Given the description of an element on the screen output the (x, y) to click on. 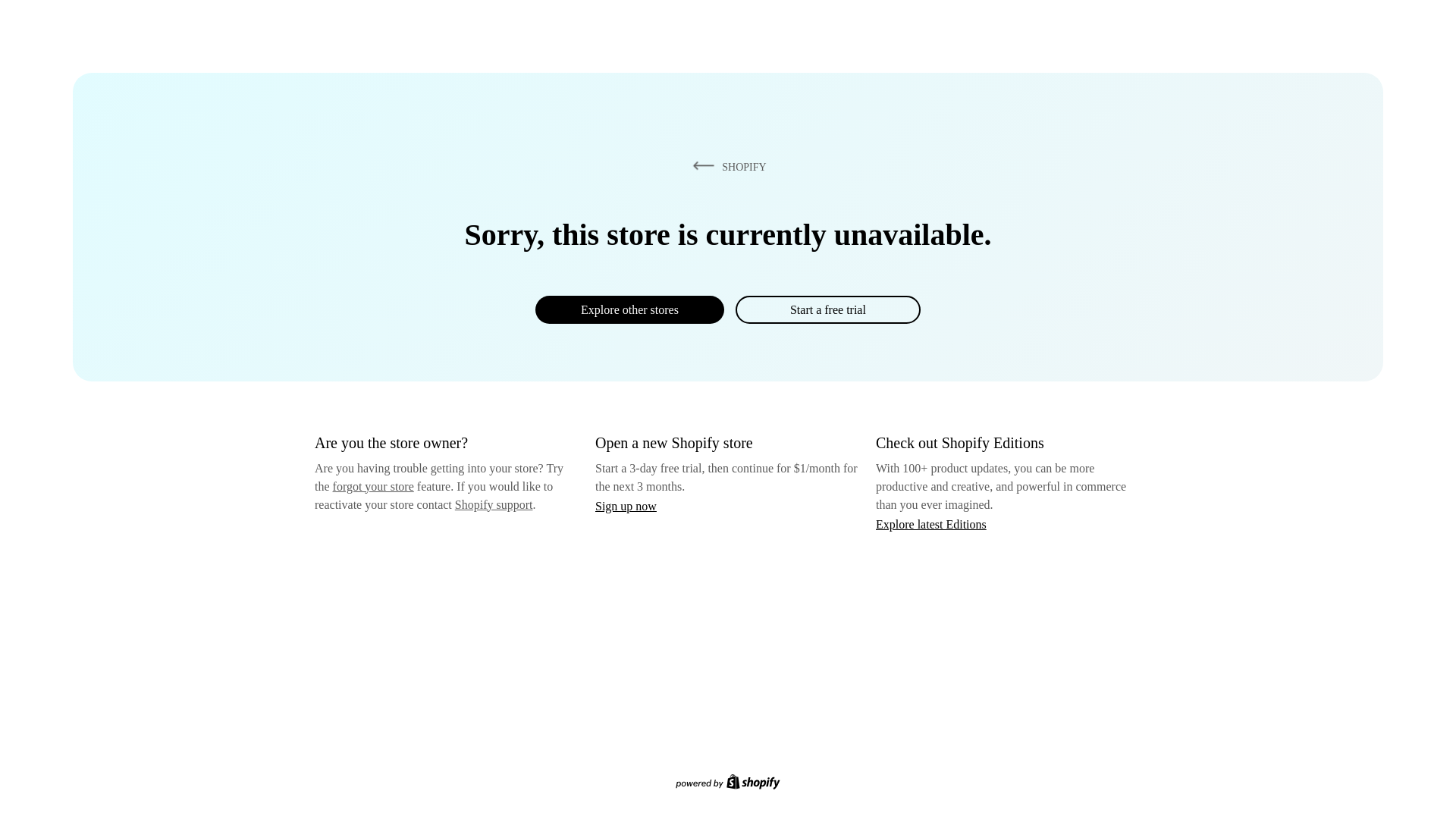
Start a free trial (827, 309)
Explore latest Editions (931, 523)
Explore other stores (629, 309)
Shopify support (493, 504)
SHOPIFY (726, 166)
forgot your store (373, 486)
Sign up now (625, 505)
